Given the description of an element on the screen output the (x, y) to click on. 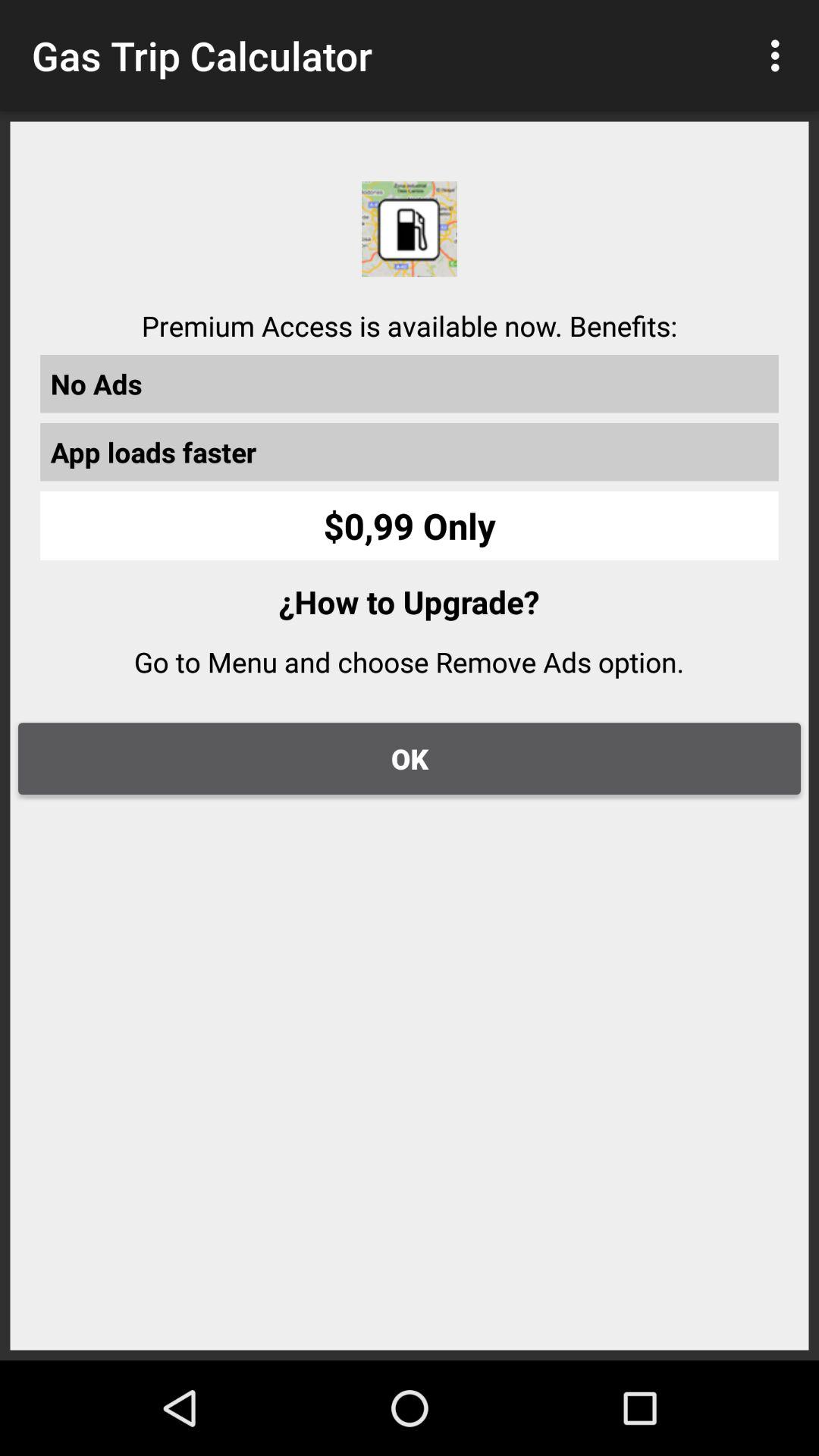
tap the app above the no ads item (779, 55)
